Given the description of an element on the screen output the (x, y) to click on. 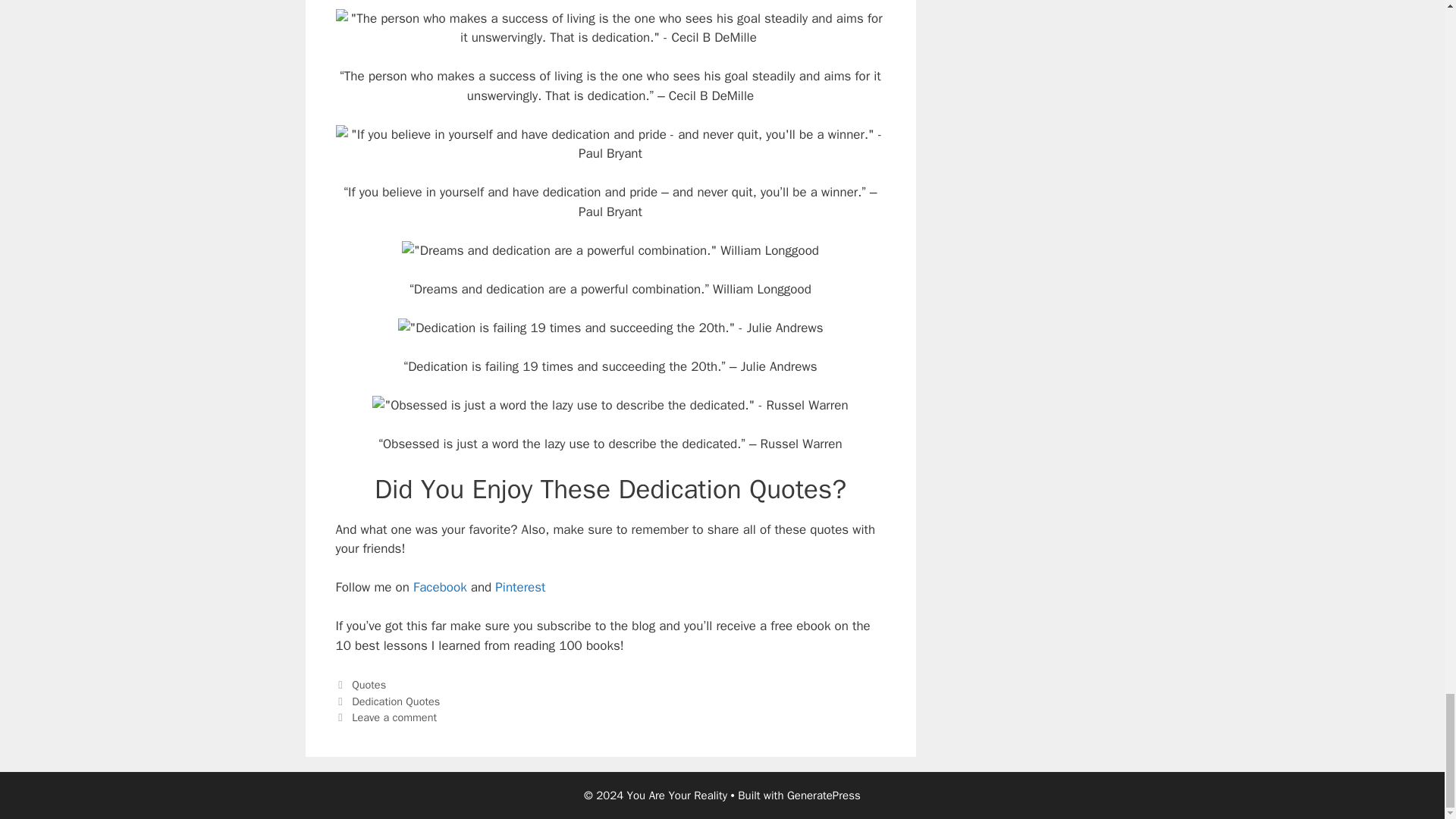
Leave a comment (394, 716)
Pinterest (519, 587)
Facebook (440, 587)
Quotes (368, 684)
Dedication Quotes (395, 701)
